Given the description of an element on the screen output the (x, y) to click on. 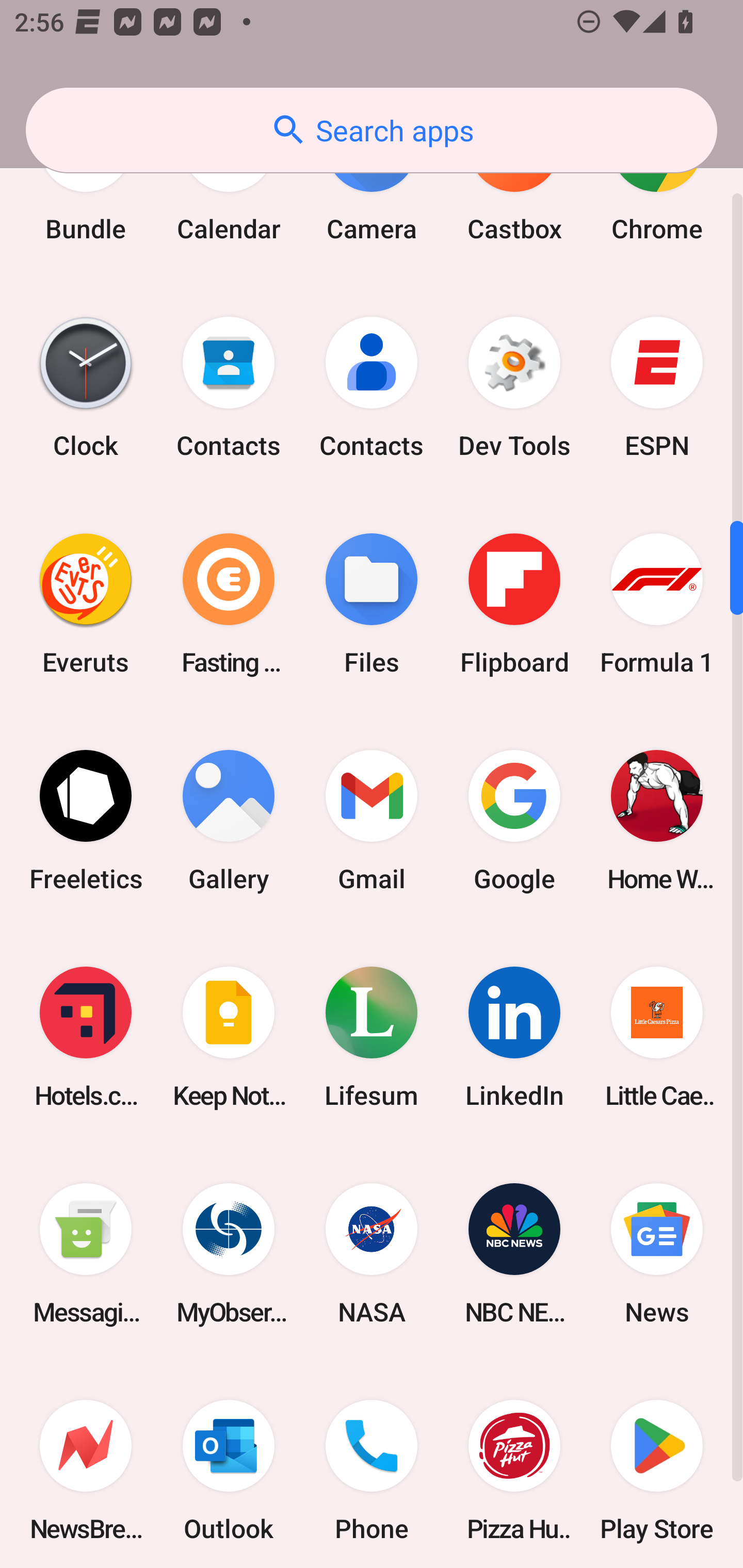
  Search apps (371, 130)
Clock (85, 387)
Contacts (228, 387)
Contacts (371, 387)
Dev Tools (514, 387)
ESPN (656, 387)
Everuts (85, 603)
Fasting Coach (228, 603)
Files (371, 603)
Flipboard (514, 603)
Formula 1 (656, 603)
Freeletics (85, 819)
Gallery (228, 819)
Gmail (371, 819)
Google (514, 819)
Home Workout (656, 819)
Hotels.com (85, 1037)
Keep Notes (228, 1037)
Lifesum (371, 1037)
LinkedIn (514, 1037)
Little Caesars Pizza (656, 1037)
Messaging (85, 1254)
MyObservatory (228, 1254)
NASA (371, 1254)
NBC NEWS (514, 1254)
News (656, 1254)
NewsBreak (85, 1465)
Outlook (228, 1465)
Phone (371, 1465)
Pizza Hut HK & Macau (514, 1465)
Play Store (656, 1465)
